Given the description of an element on the screen output the (x, y) to click on. 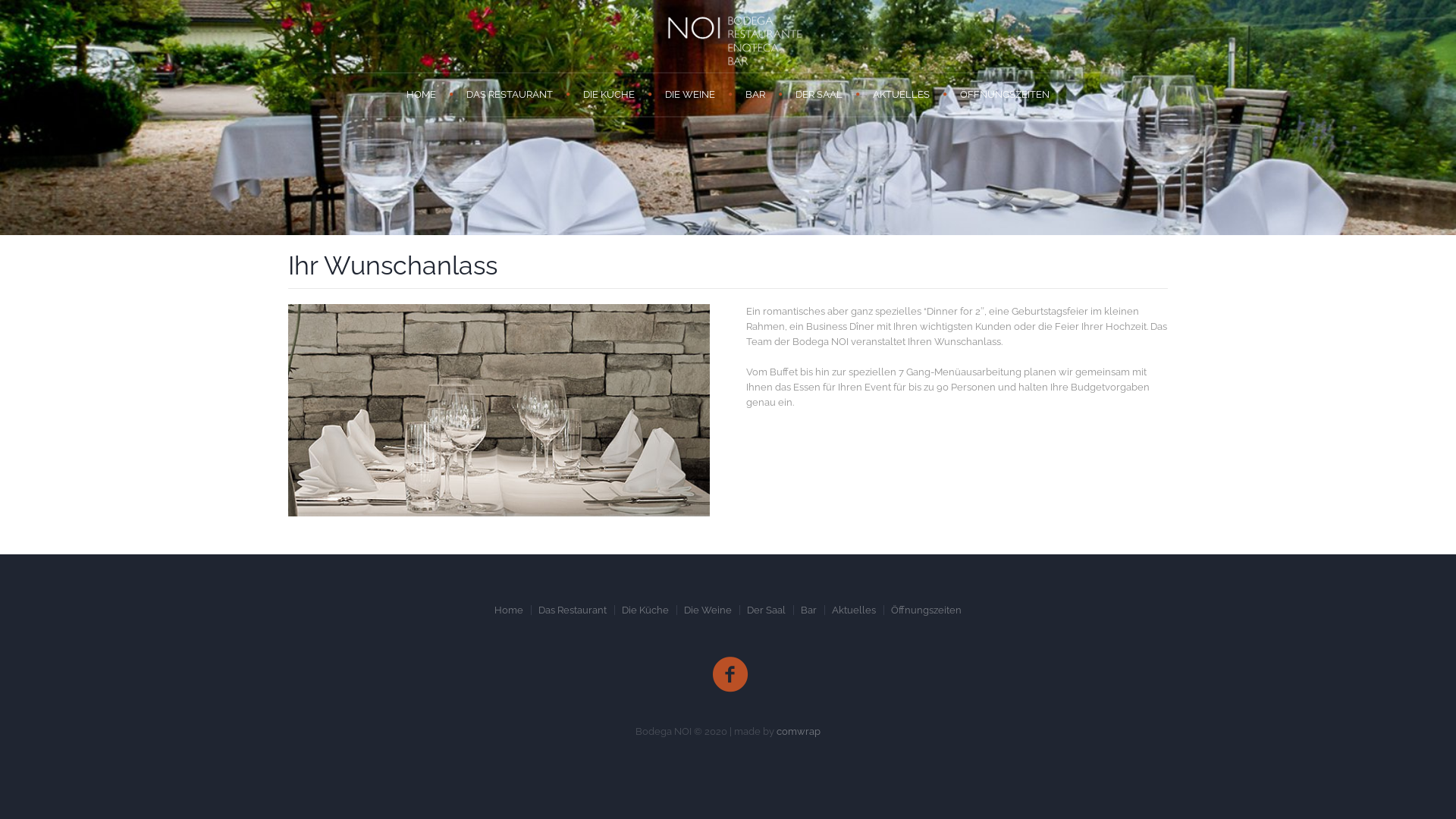
Facebook Element type: hover (730, 674)
HOME Element type: text (421, 94)
AKTUELLES Element type: text (900, 94)
Home Element type: text (508, 610)
DAS RESTAURANT Element type: text (509, 94)
BAR Element type: text (755, 94)
comwrap Element type: text (798, 731)
Aktuelles Element type: text (853, 610)
Das Restaurant Element type: text (572, 610)
Der Saal Element type: text (765, 610)
Die Weine Element type: text (707, 610)
DIE WEINE Element type: text (689, 94)
DER SAAL Element type: text (818, 94)
Bar Element type: text (808, 610)
